Given the description of an element on the screen output the (x, y) to click on. 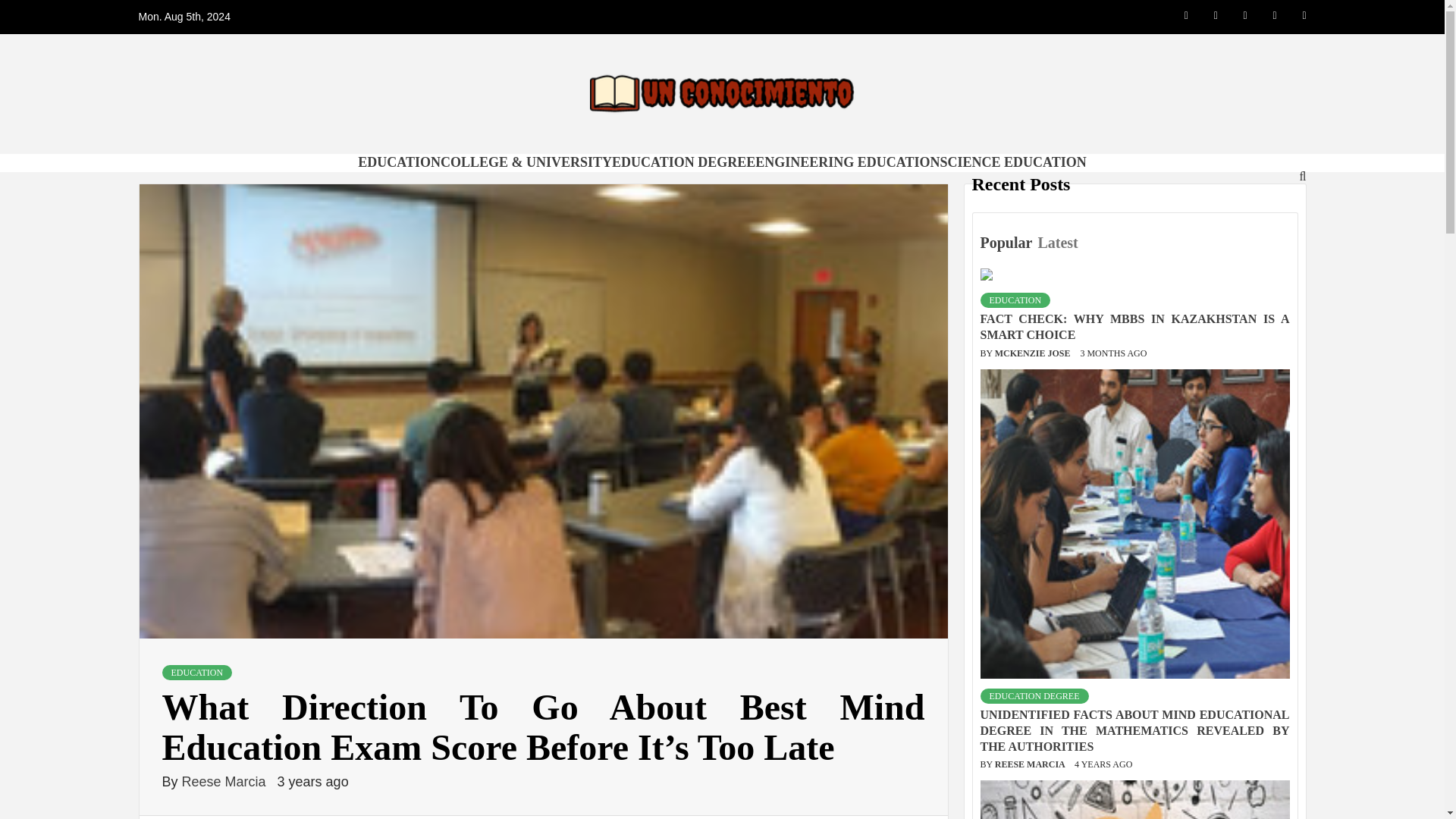
EDUCATION (399, 161)
EDUCATION (1014, 299)
MCKENZIE JOSE (1033, 353)
Reese Marcia (225, 781)
REESE MARCIA (1030, 764)
ENGINEERING EDUCATION (847, 161)
EDUCATION DEGREE (1033, 695)
Popular (1007, 242)
EDUCATION (196, 672)
